Given the description of an element on the screen output the (x, y) to click on. 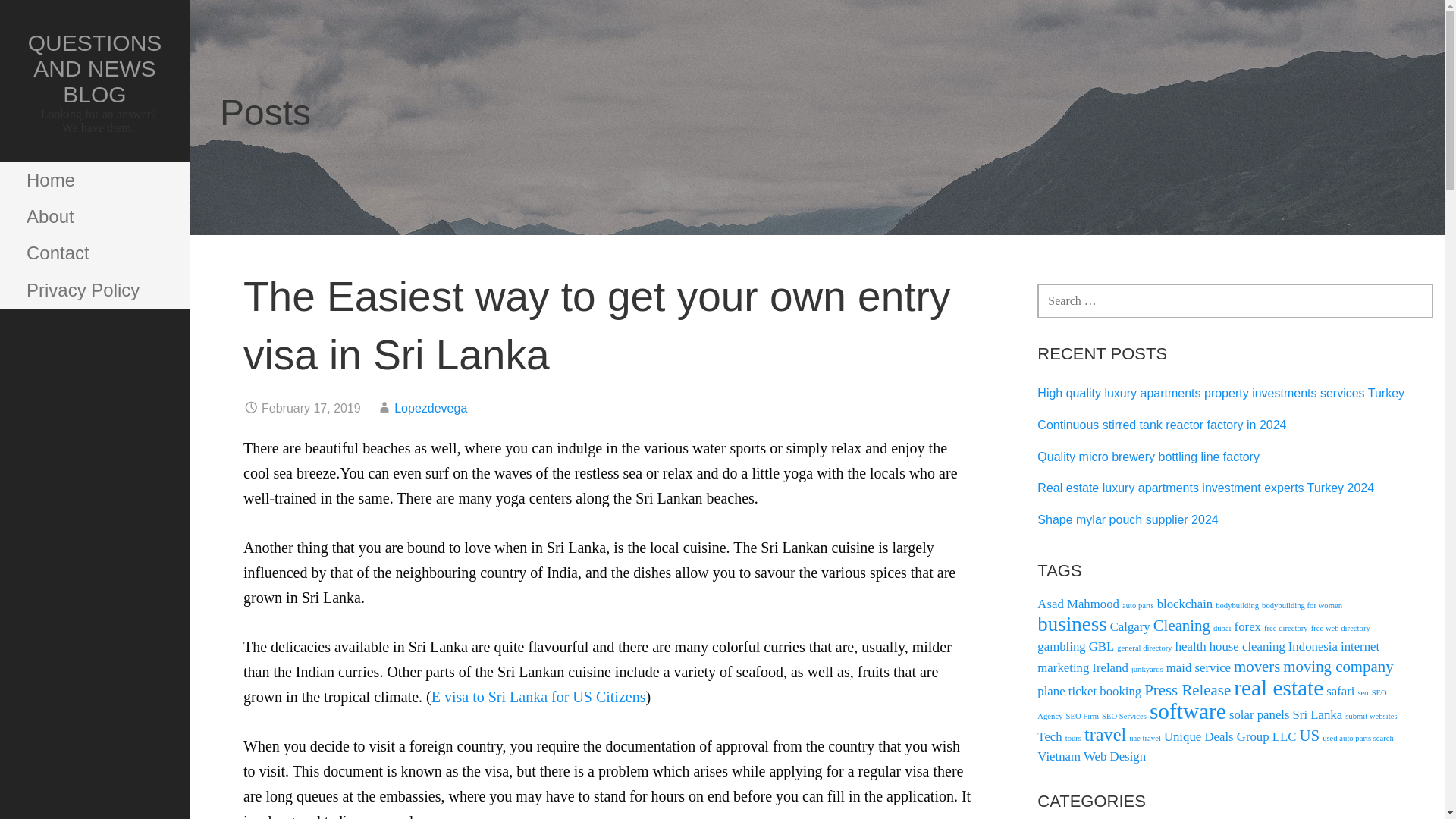
dubai (1221, 628)
free directory (1285, 628)
About (94, 217)
GBL (1102, 646)
Calgary (1129, 626)
health (1190, 646)
Home (94, 180)
forex (1247, 626)
Lopezdevega (430, 408)
Real estate luxury apartments investment experts Turkey 2024 (1205, 487)
